Given the description of an element on the screen output the (x, y) to click on. 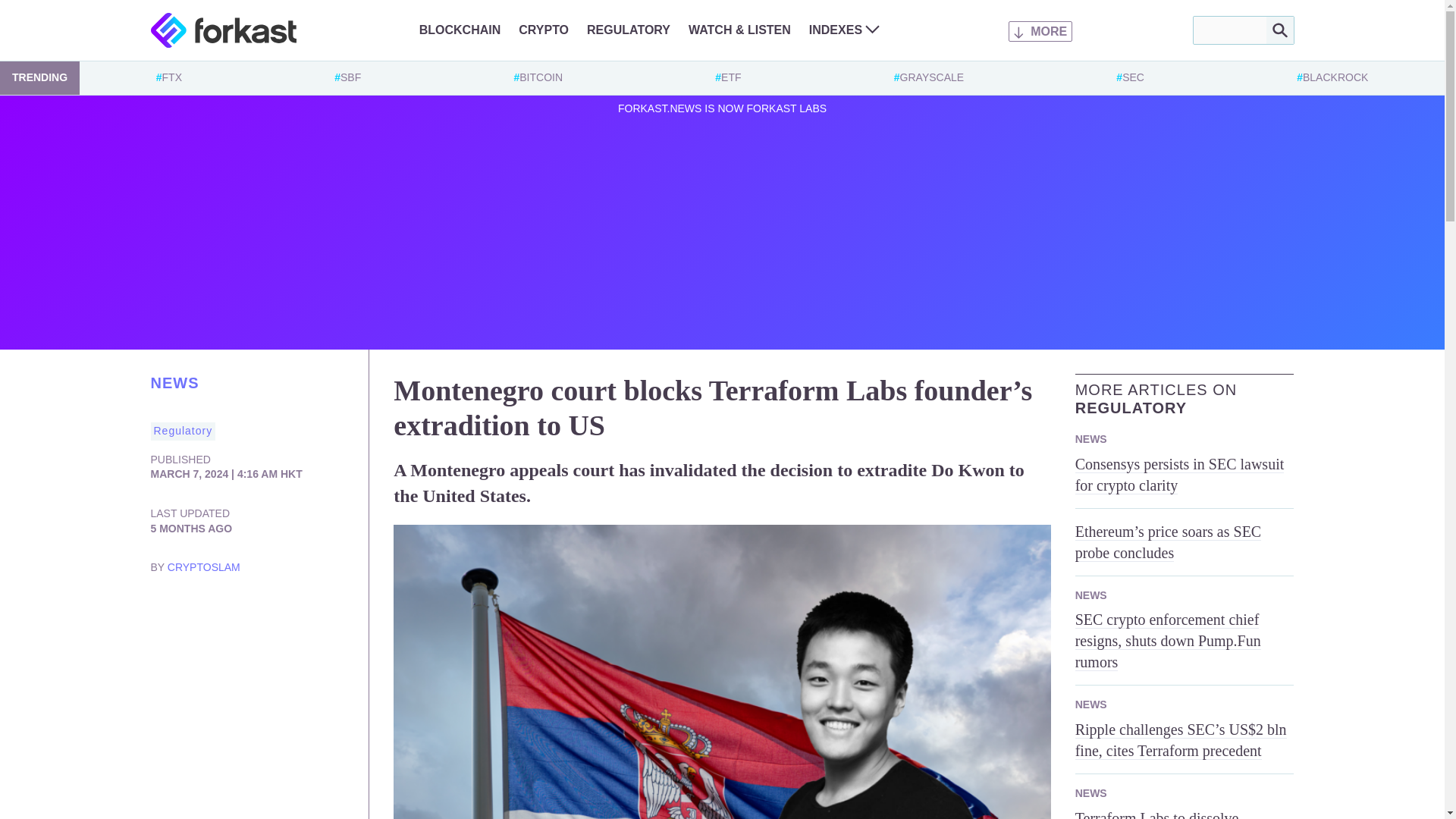
Share on linkedin (192, 611)
BLOCKCHAIN (459, 29)
REGULATORY (627, 29)
INDEXES (844, 29)
Share on whatsapp (282, 611)
Share on line (313, 611)
Share on telegram (252, 611)
Posts by CryptoSlam (203, 567)
